Given the description of an element on the screen output the (x, y) to click on. 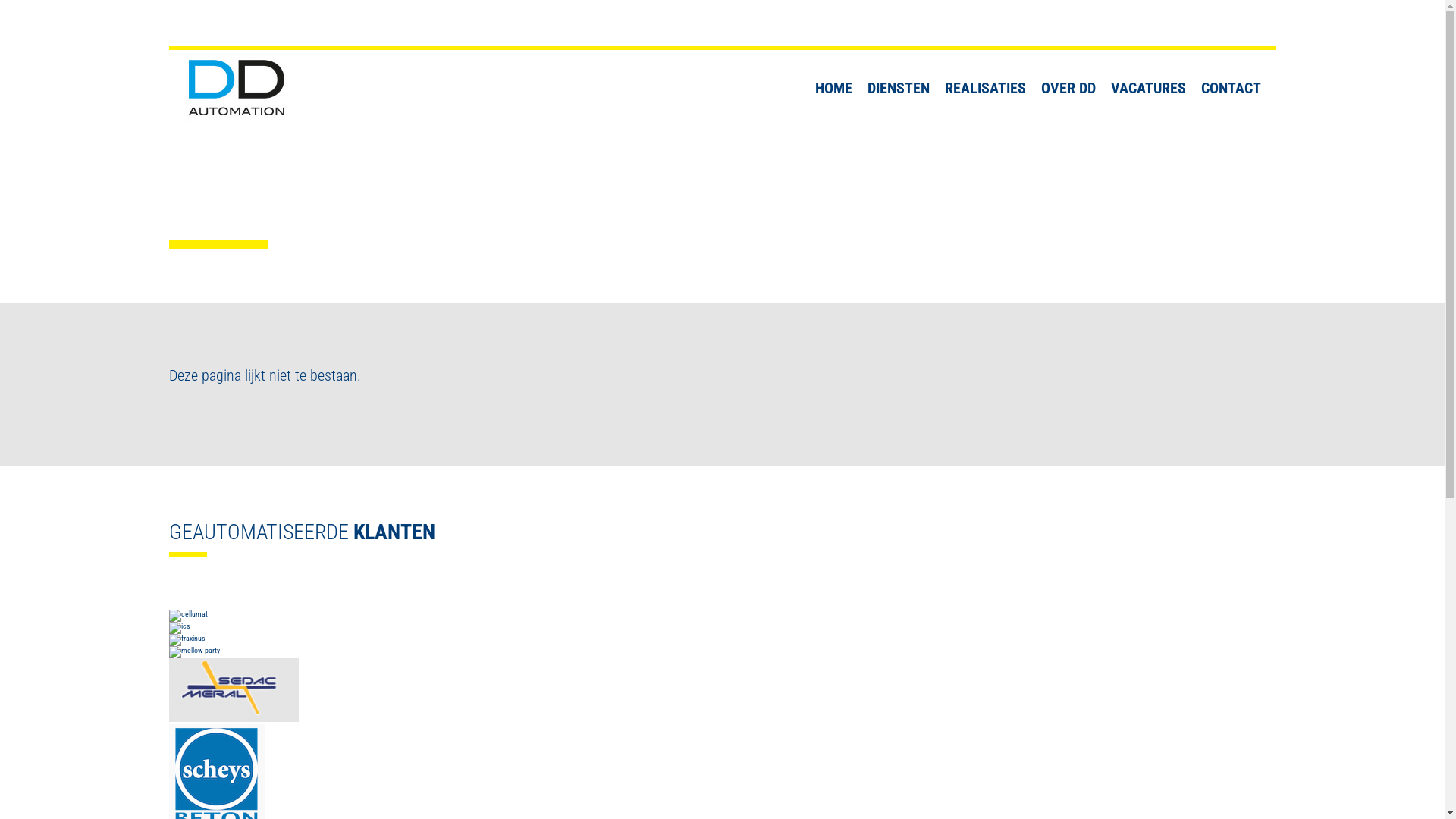
DIENSTEN Element type: text (898, 87)
HOME Element type: text (832, 87)
OVER DD Element type: text (1067, 87)
VACATURES Element type: text (1147, 87)
CONTACT Element type: text (1231, 87)
REALISATIES Element type: text (985, 87)
DD Automation Element type: hover (235, 87)
